Given the description of an element on the screen output the (x, y) to click on. 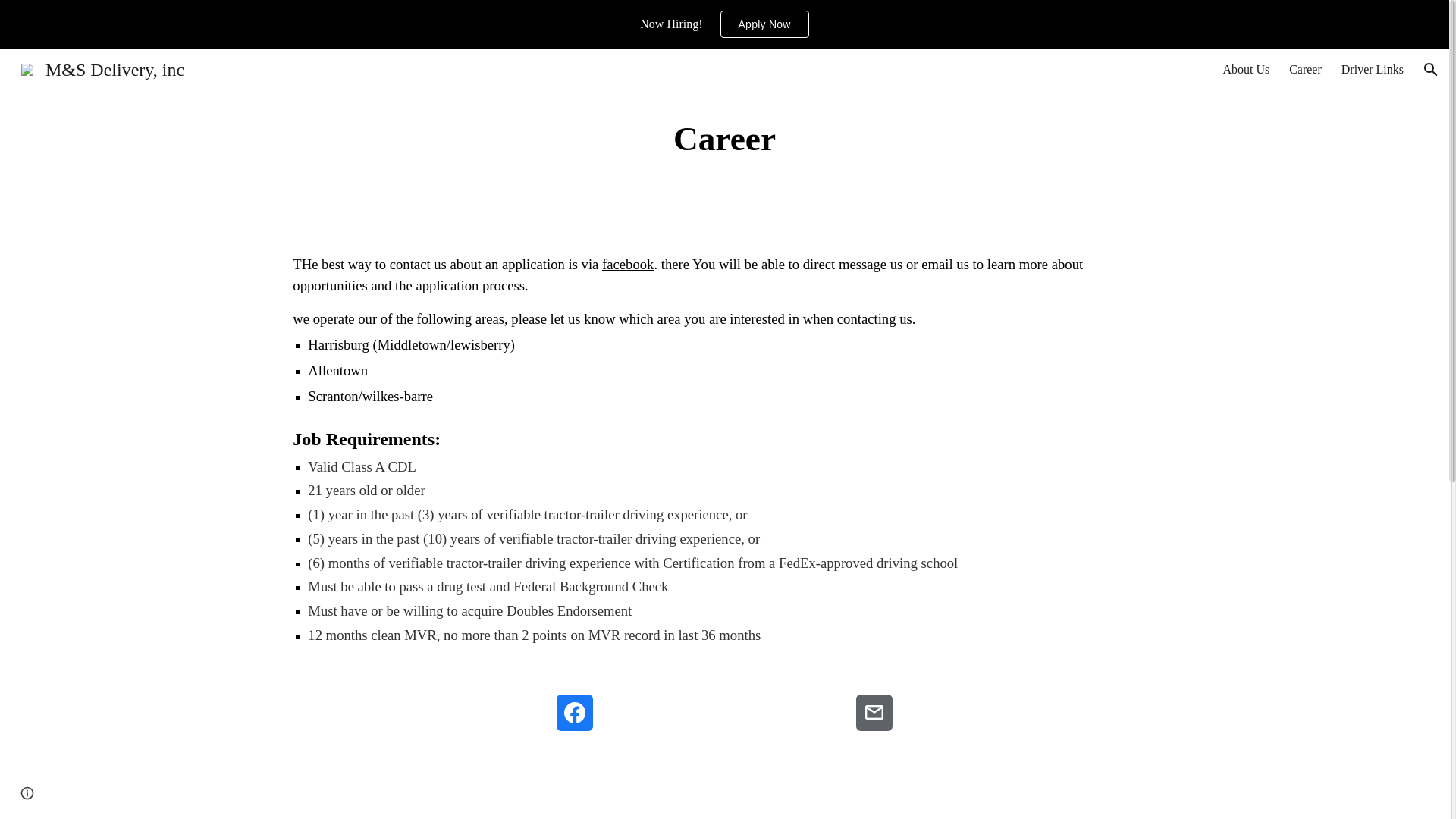
Career (1305, 69)
Driver Links (1371, 69)
Apply Now (764, 23)
Apply Now (764, 23)
facebook (627, 264)
About Us (1246, 69)
